Given the description of an element on the screen output the (x, y) to click on. 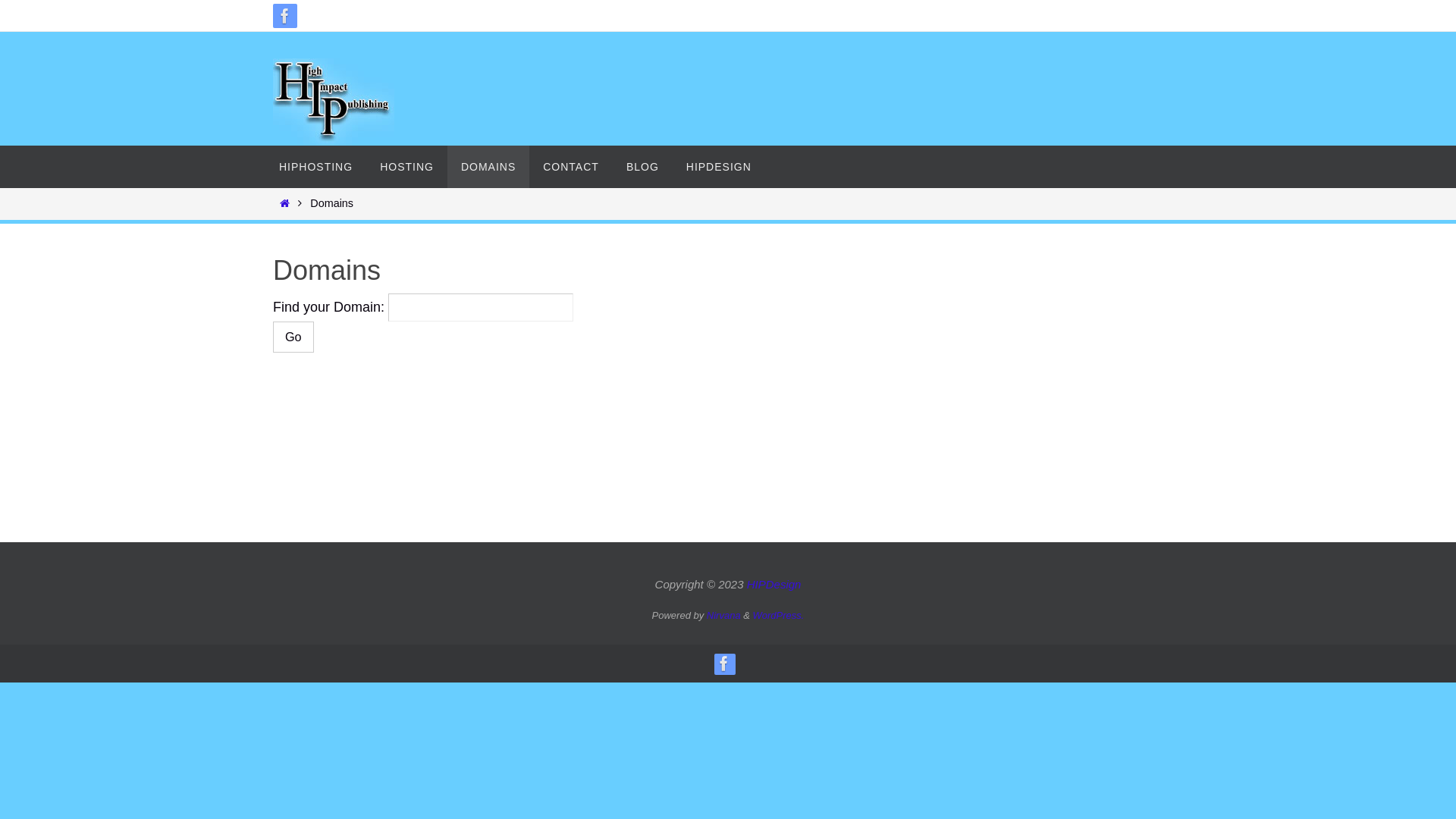
WordPress. Element type: text (778, 615)
Facebook Element type: hover (285, 15)
HIPDesign Element type: text (773, 583)
HIPHOSTING Element type: text (315, 166)
DOMAINS Element type: text (488, 166)
CONTACT Element type: text (570, 166)
Go Element type: text (293, 336)
HOSTING Element type: text (406, 166)
Home Element type: text (283, 203)
HIPDESIGN Element type: text (718, 166)
BLOG Element type: text (642, 166)
Nirvana Element type: text (723, 615)
HIPHosting Element type: hover (333, 103)
Facebook Element type: hover (724, 663)
